Given the description of an element on the screen output the (x, y) to click on. 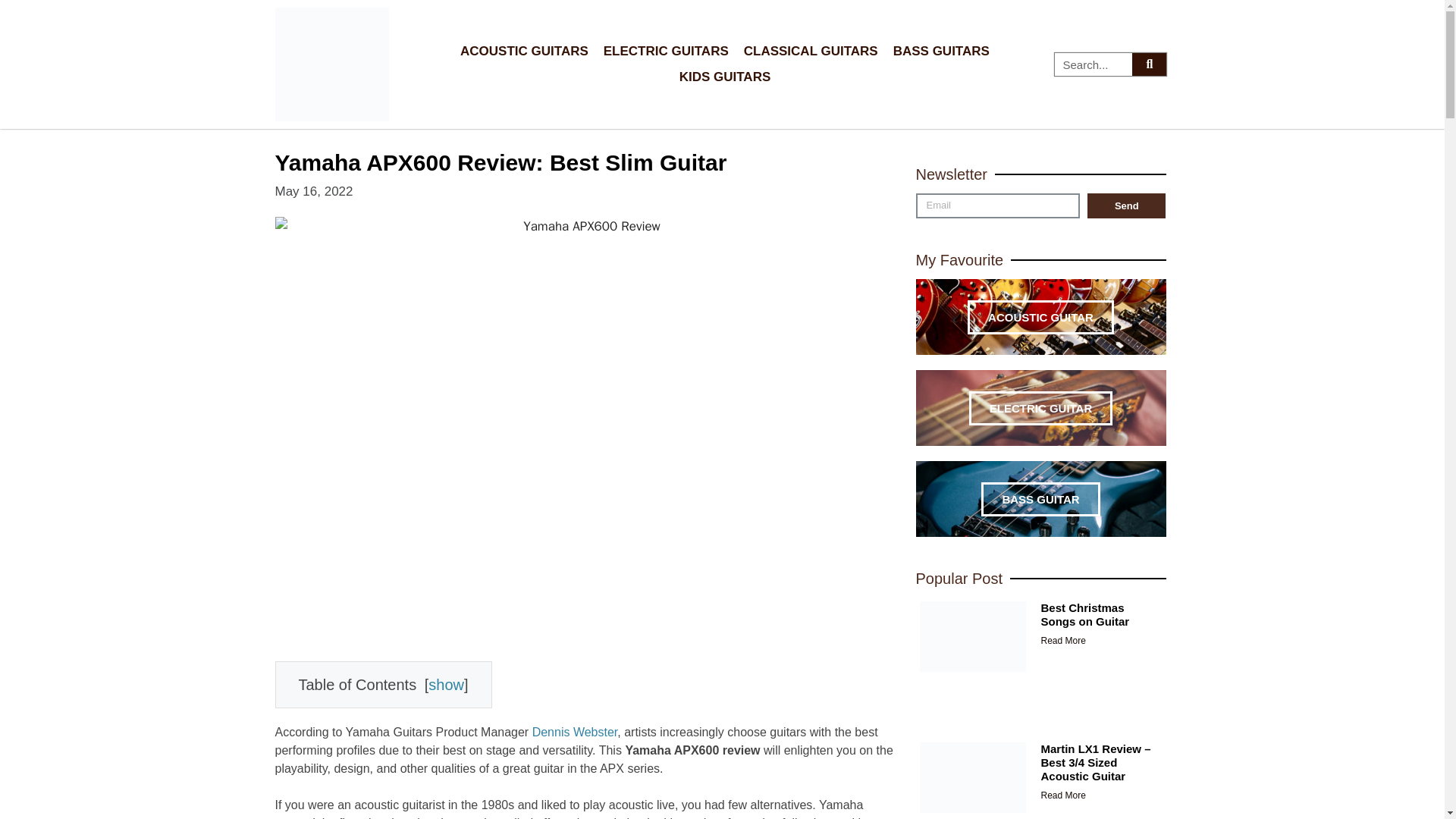
Yamaha APX600 Review: Best Slim Guitar (500, 162)
BASS GUITARS (941, 51)
Search (1149, 64)
Search (1093, 64)
CLASSICAL GUITARS (810, 51)
show (446, 684)
KIDS GUITARS (724, 77)
Dennis Webster (574, 731)
ACOUSTIC GUITARS (523, 51)
ELECTRIC GUITARS (665, 51)
